Given the description of an element on the screen output the (x, y) to click on. 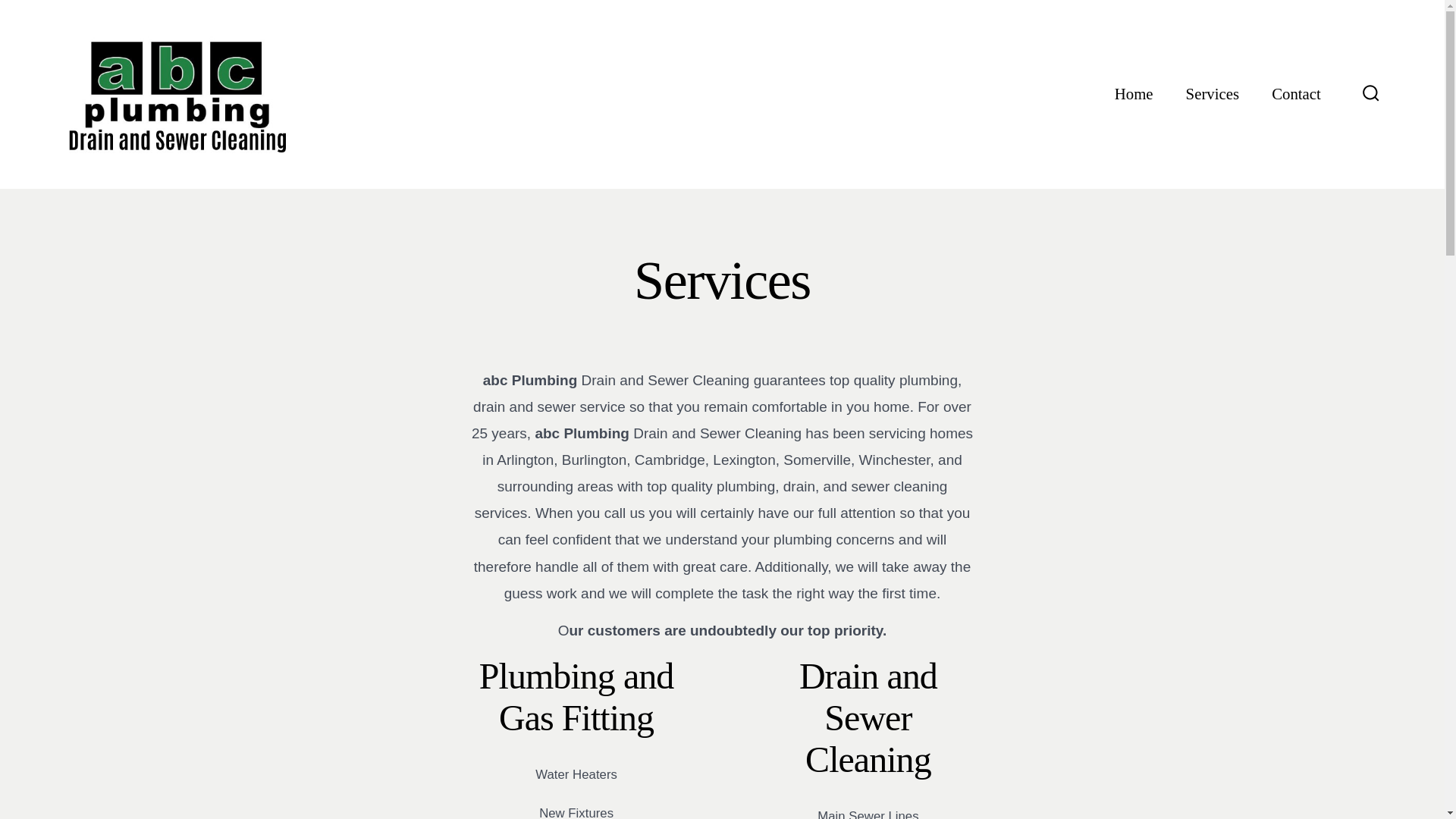
Services (1212, 93)
Contact (1295, 93)
Search Toggle (1371, 94)
Home (1134, 93)
